Given the description of an element on the screen output the (x, y) to click on. 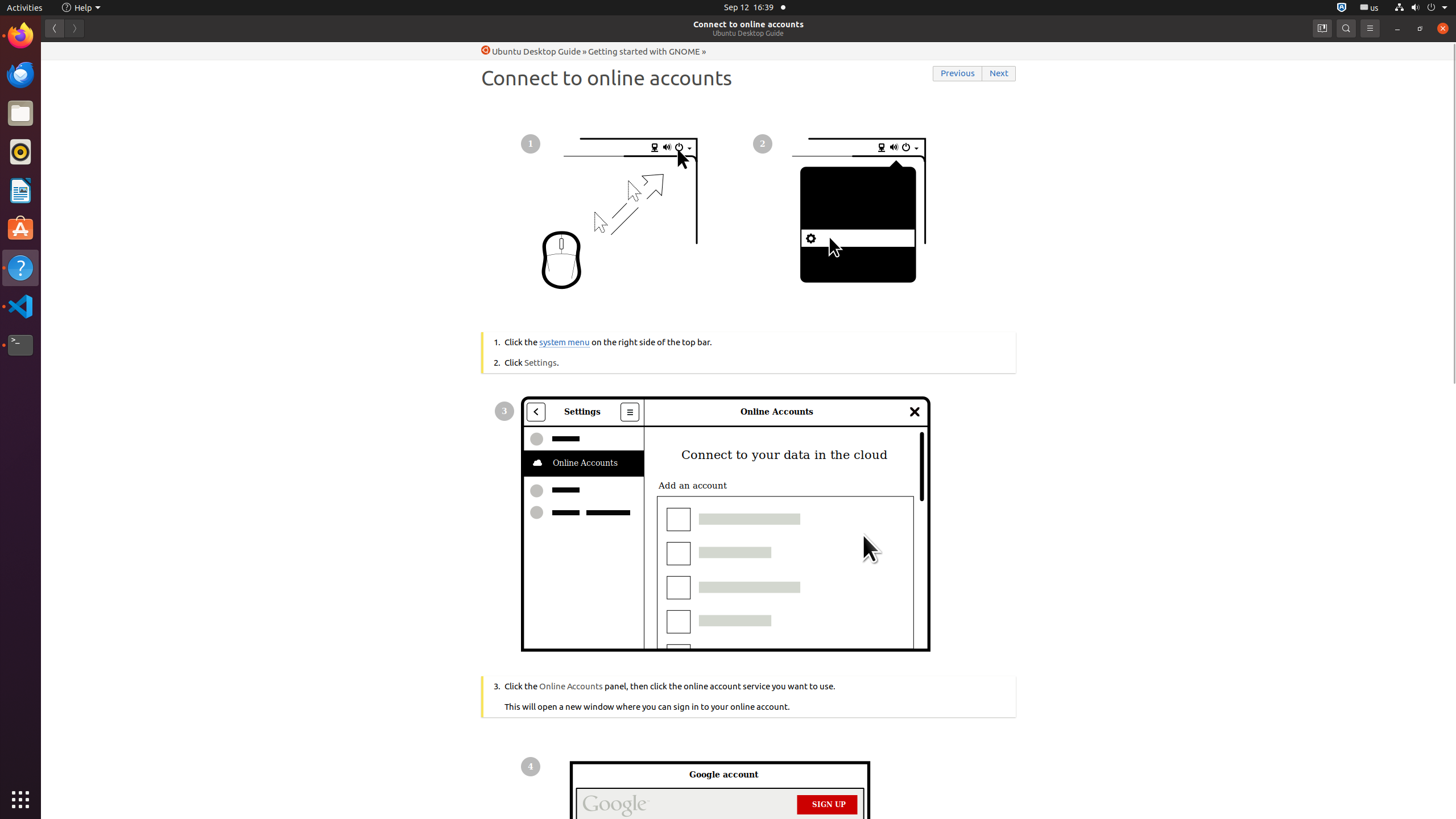
Minimize Element type: push-button (1397, 27)
Help Ubuntu Desktop Guide Element type: link (530, 50)
